Given the description of an element on the screen output the (x, y) to click on. 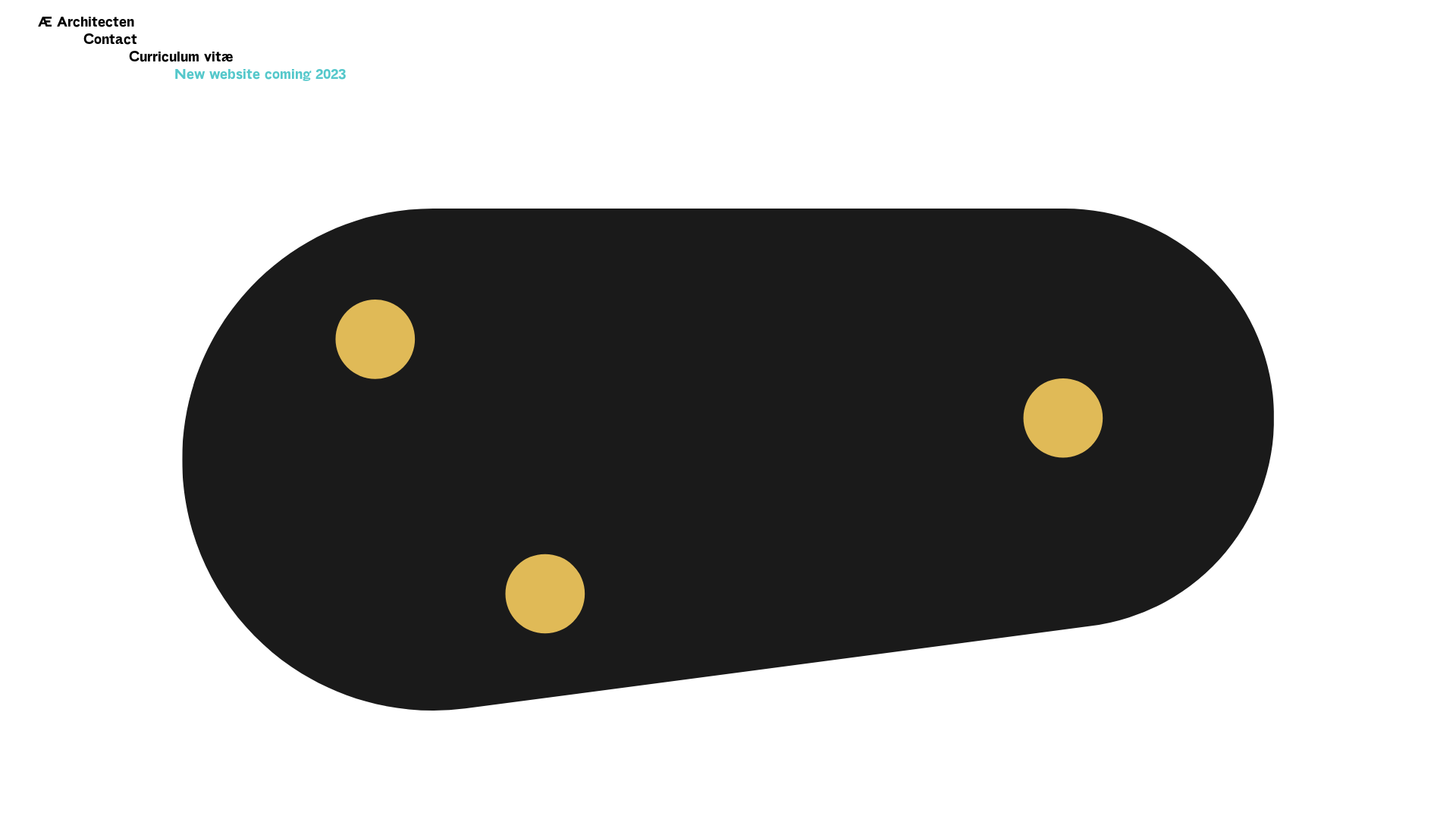
Contact Element type: text (110, 39)
